Given the description of an element on the screen output the (x, y) to click on. 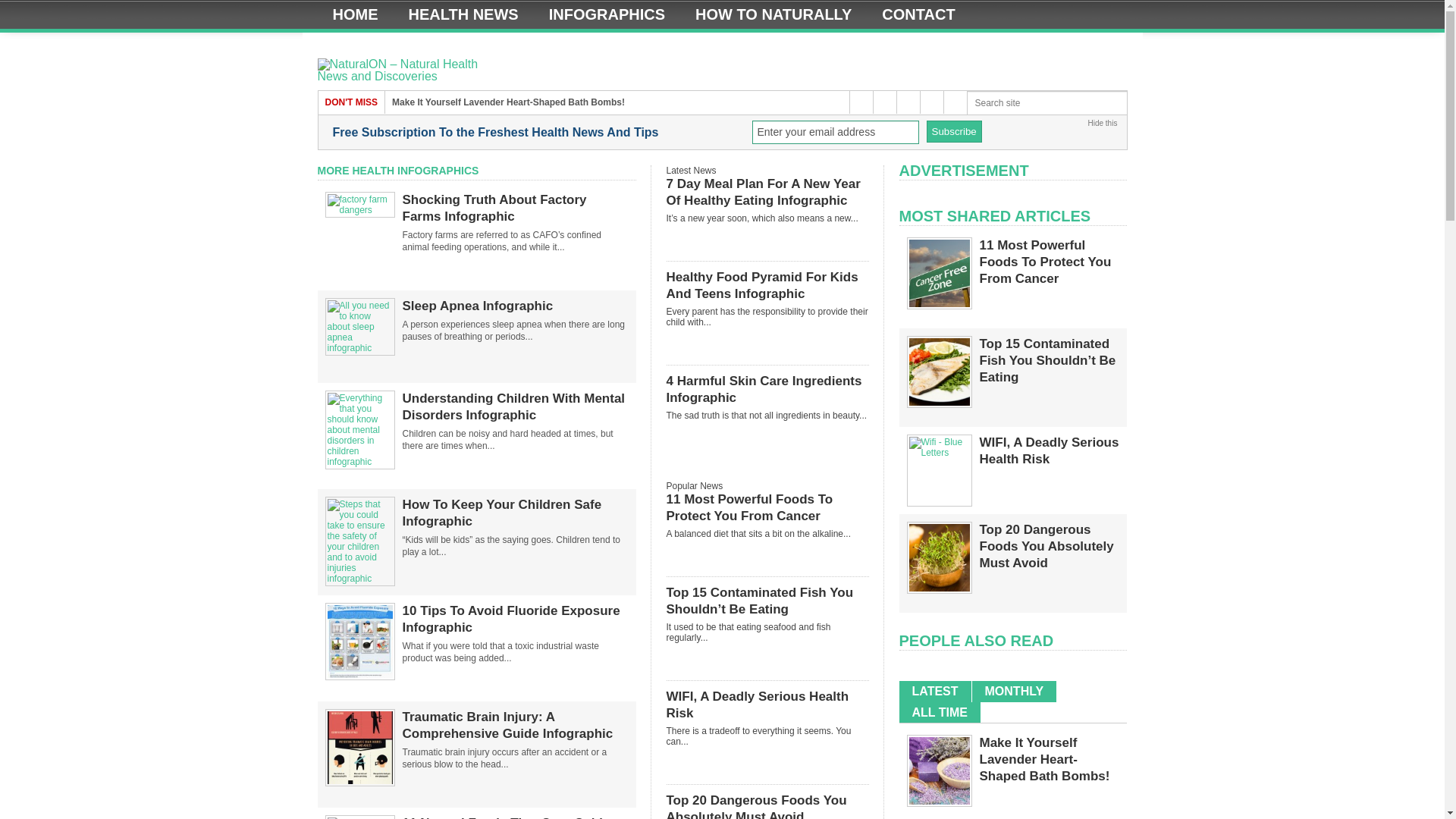
11 Most Powerful Foods To Protect You From Cancer (938, 303)
Traumatic Brain Injury: A Comprehensive Guide Infographic (359, 783)
Sleep Apnea Infographic (359, 347)
Make It Yourself Lavender Heart-Shaped Bath Bombs! (507, 102)
Traumatic Brain Injury: A Comprehensive Guide Infographic (514, 725)
Shocking Truth About Factory Farms Infographic (514, 208)
Subscribe (953, 131)
CONTACT (917, 14)
Understanding Children With Mental Disorders Infographic (514, 407)
WIFI, A Deadly Serious Health Risk (938, 452)
